Given the description of an element on the screen output the (x, y) to click on. 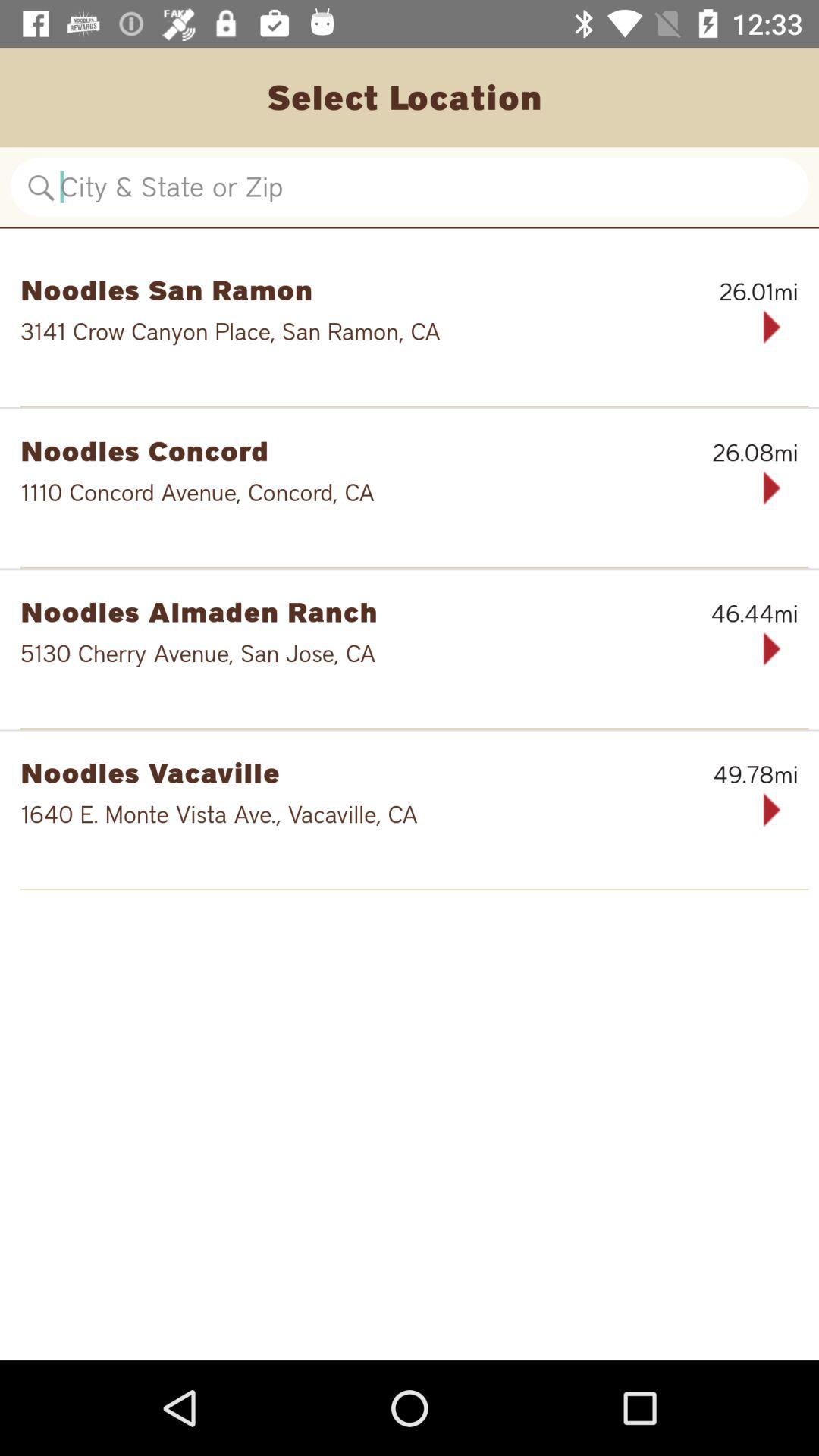
launch the icon below noodles almaden ranch (361, 653)
